Given the description of an element on the screen output the (x, y) to click on. 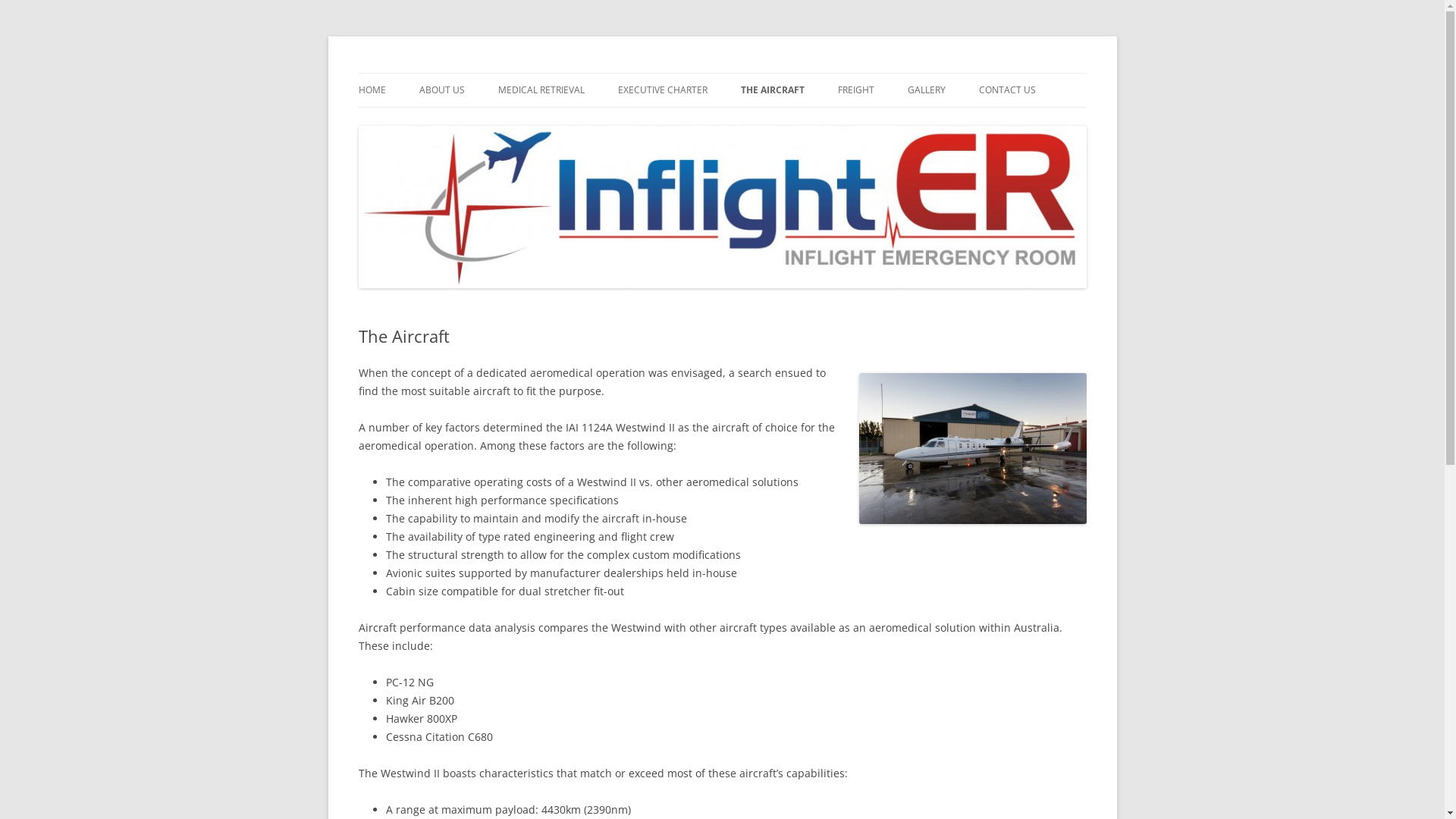
EXECUTIVE CHARTER Element type: text (661, 89)
THE AIRCRAFT Element type: text (771, 89)
FREIGHT Element type: text (855, 89)
MEDICAL RETRIEVAL Element type: text (540, 89)
CONTACT US Element type: text (1006, 89)
ABOUT US Element type: text (441, 89)
HOME Element type: text (371, 89)
InFlight ER Element type: text (409, 72)
GALLERY Element type: text (925, 89)
Skip to content Element type: text (759, 77)
